Given the description of an element on the screen output the (x, y) to click on. 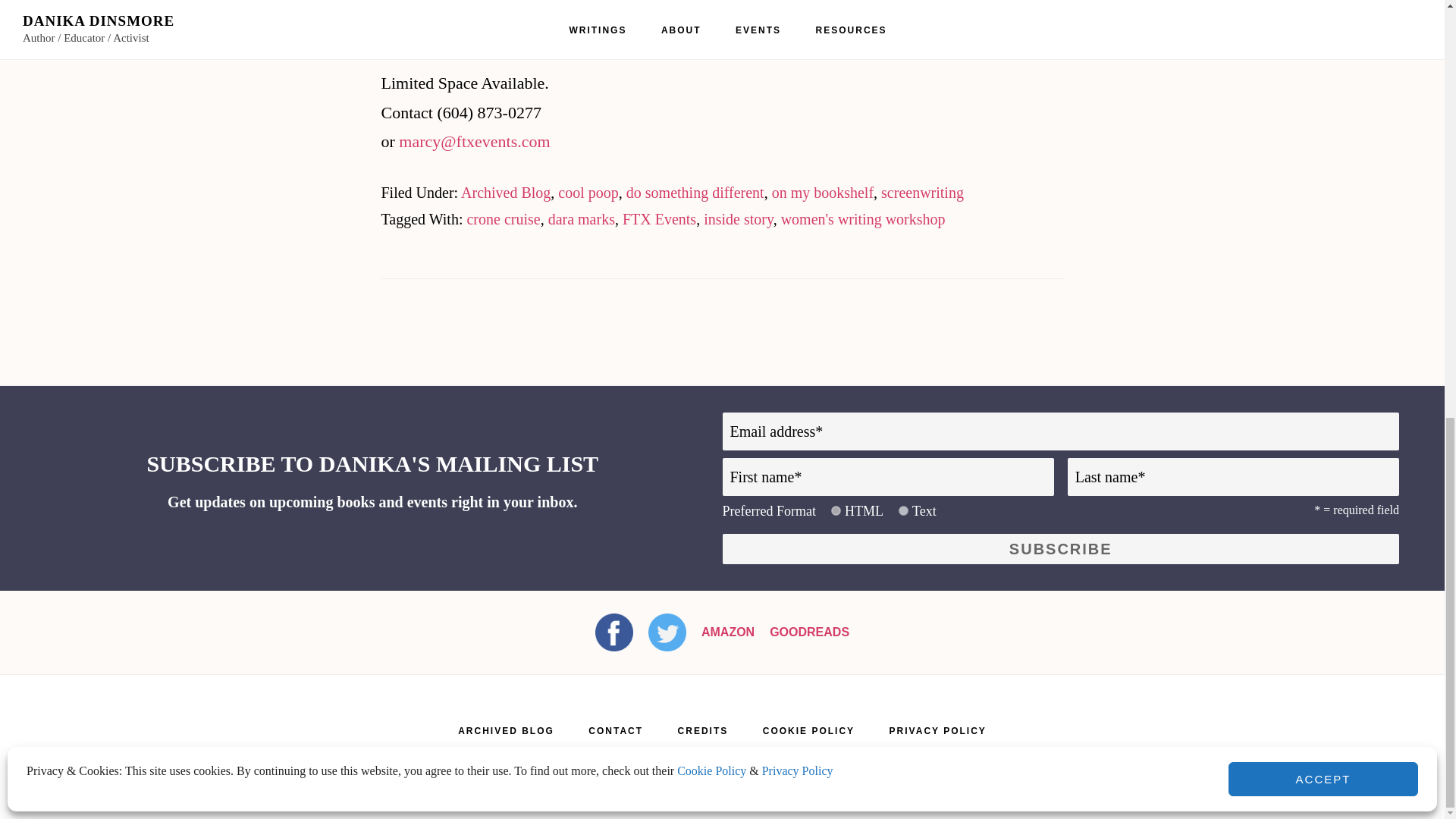
text (903, 510)
Subscribe (1060, 548)
html (836, 510)
